Given the description of an element on the screen output the (x, y) to click on. 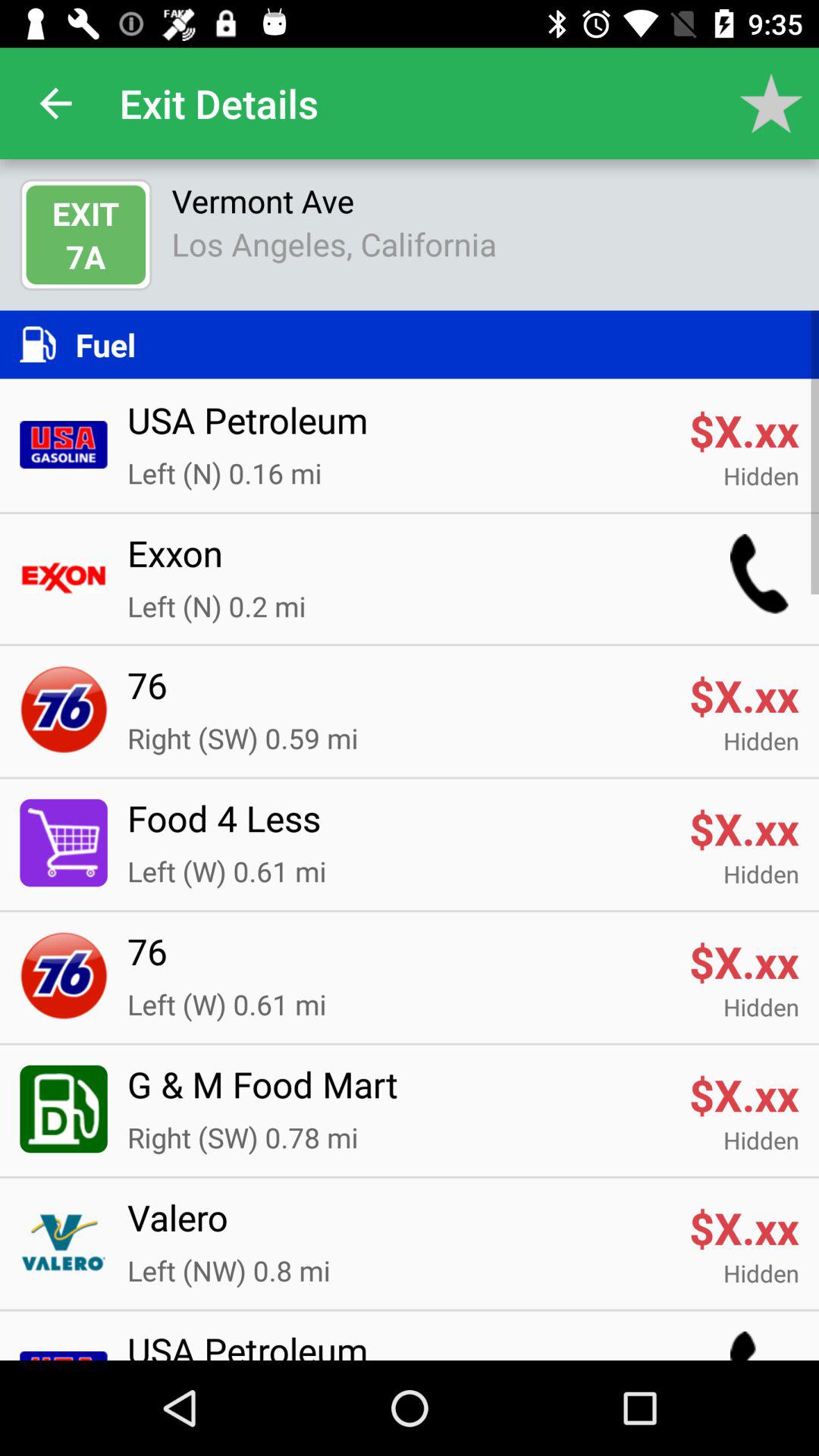
choose the item to the left of $x.xx icon (398, 1226)
